Given the description of an element on the screen output the (x, y) to click on. 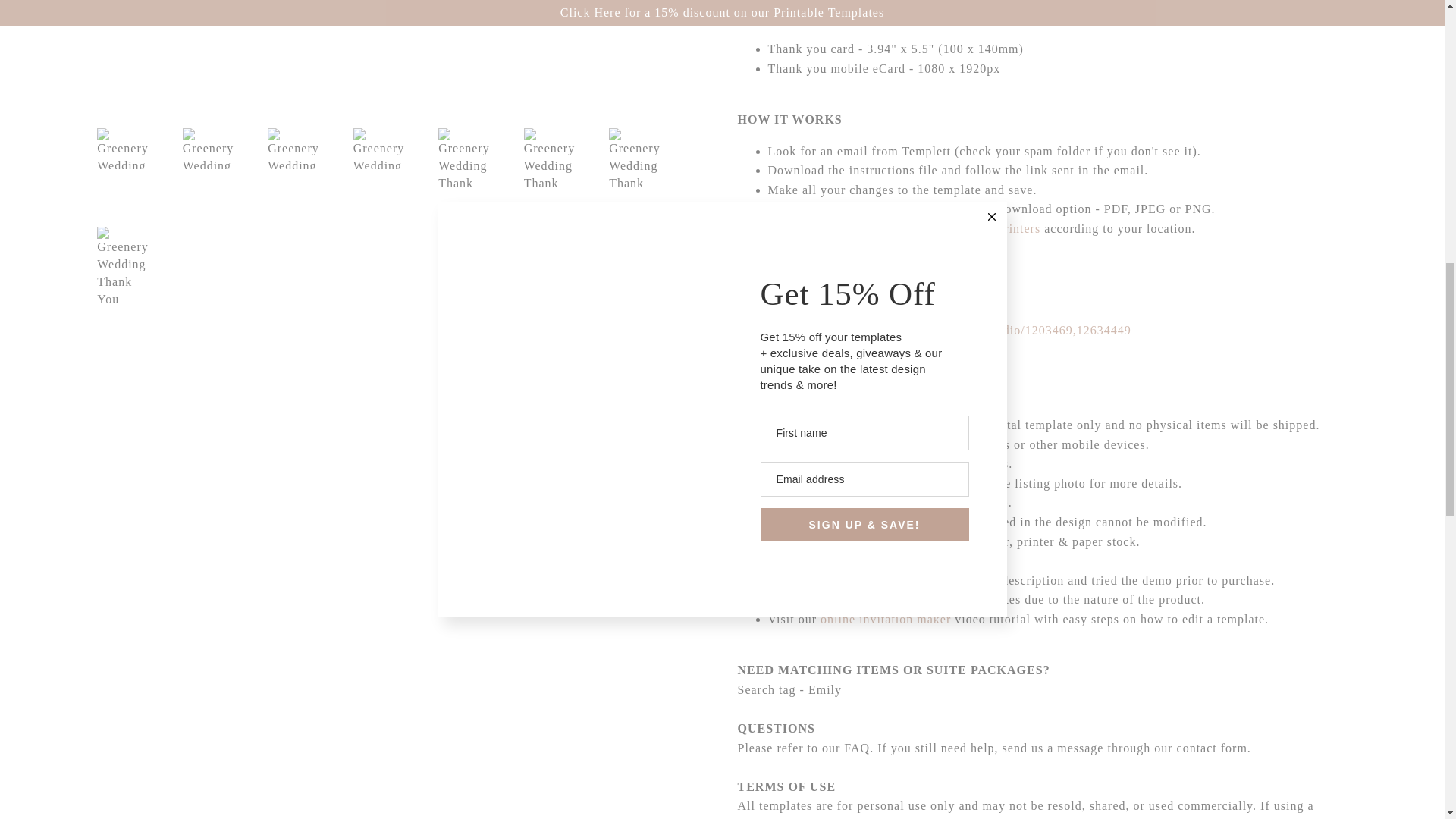
demo link for thank you card template (933, 329)
Greenery Wedding Thank You Card Template (400, 50)
online invitation maker video (885, 618)
